Given the description of an element on the screen output the (x, y) to click on. 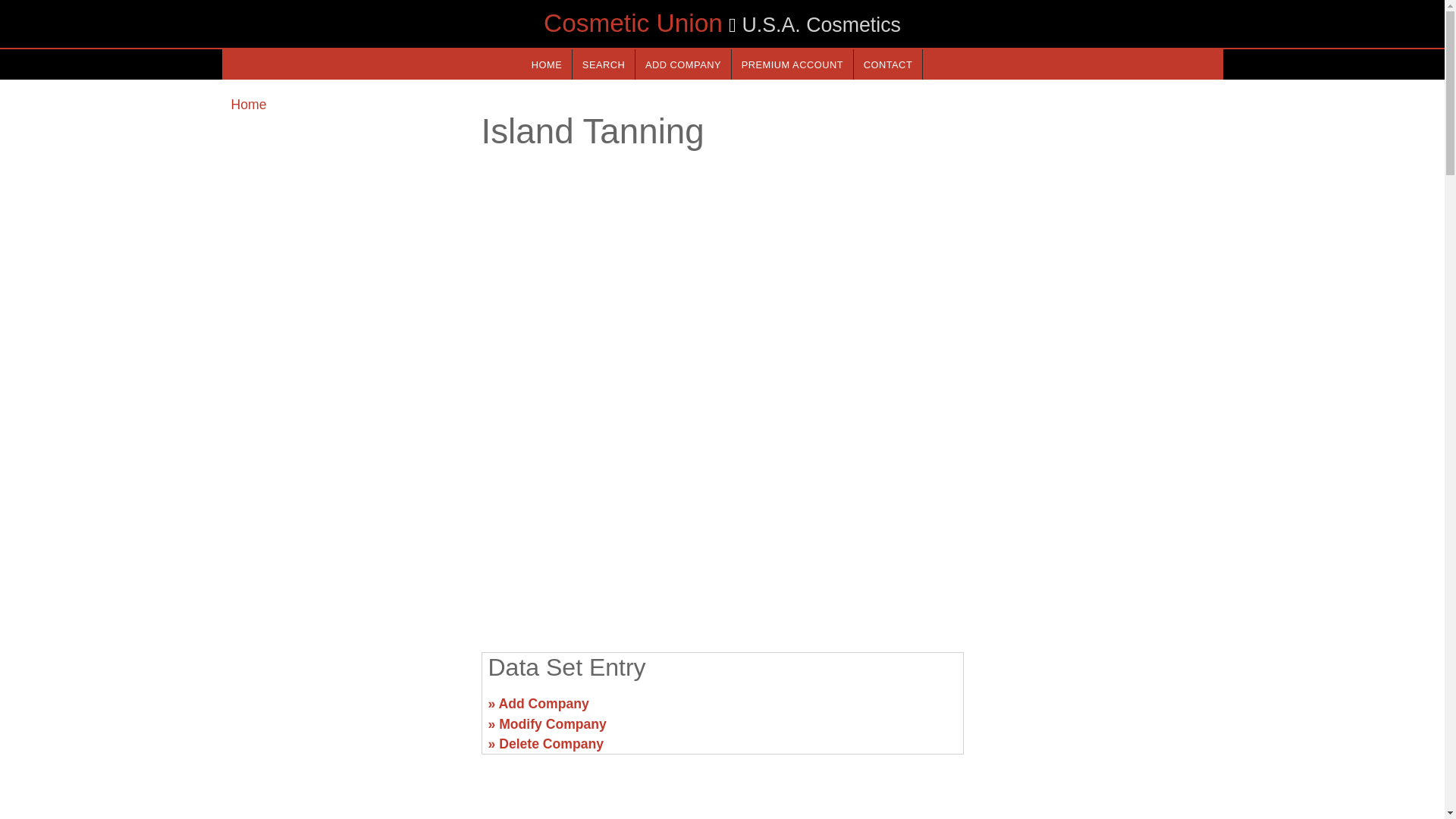
CONTACT (887, 64)
ADD COMPANY (682, 64)
SEARCH (603, 64)
Search in this webseite. (603, 64)
Cosmetic Union (632, 22)
HOME (546, 64)
Home (248, 104)
Add a new company (682, 64)
Premium account (792, 64)
PREMIUM ACCOUNT (792, 64)
Advertisement (721, 522)
Advertisement (1096, 710)
Advertisement (346, 710)
